Given the description of an element on the screen output the (x, y) to click on. 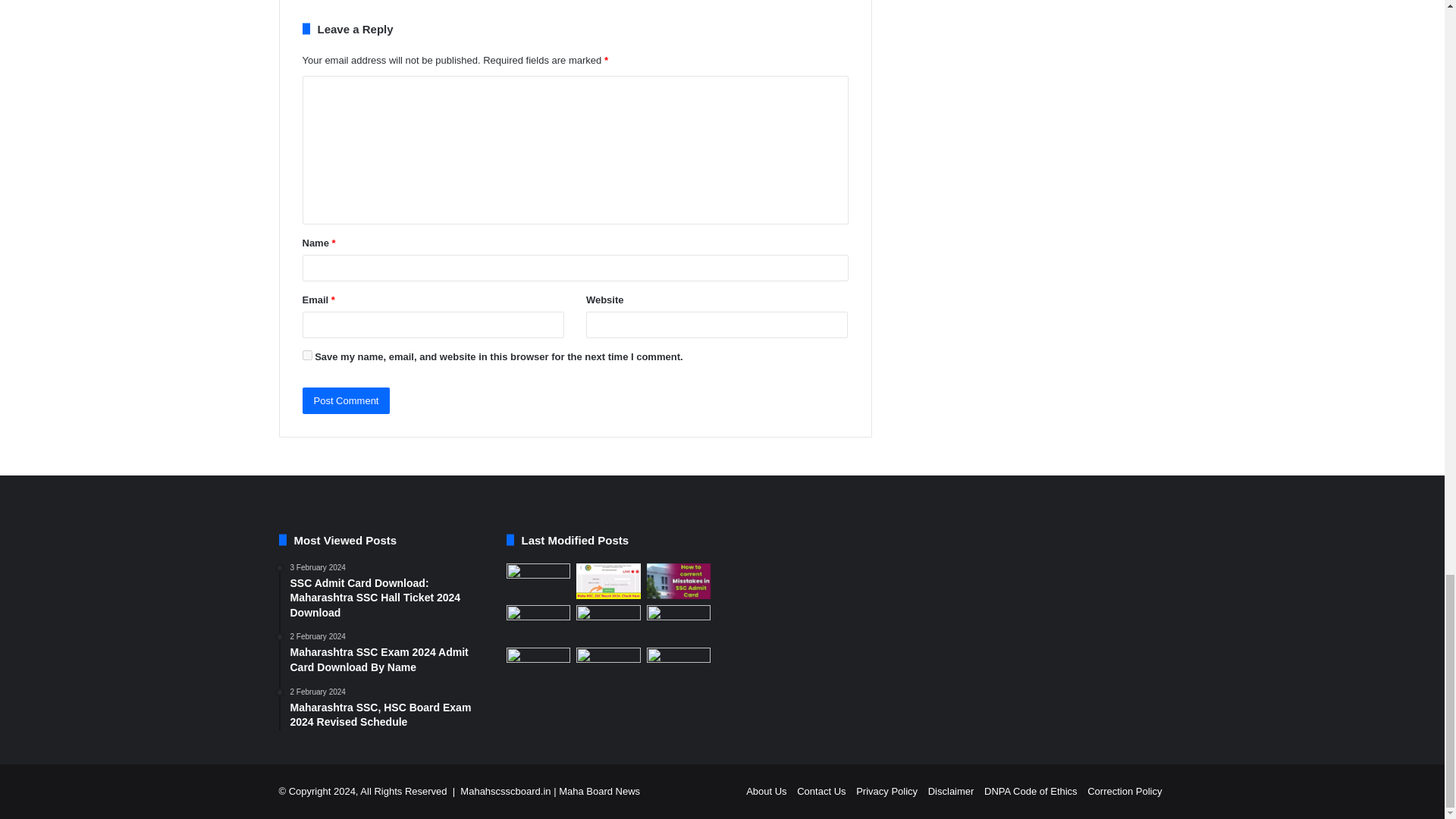
yes (306, 355)
Post Comment (345, 400)
